Given the description of an element on the screen output the (x, y) to click on. 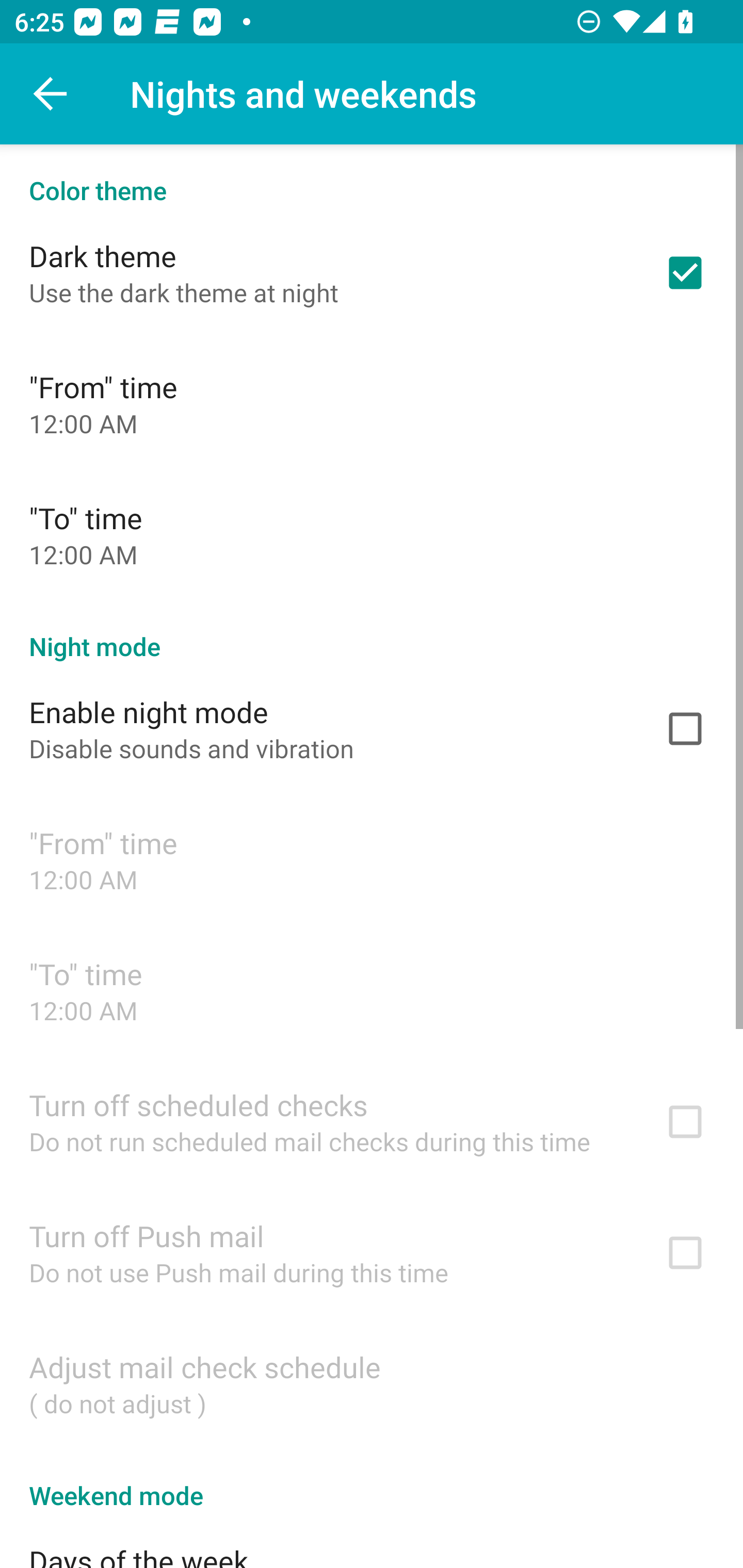
Navigate up (50, 93)
Dark theme Use the dark theme at night (371, 272)
"From" time 12:00 AM (371, 403)
"To" time 12:00 AM (371, 534)
Enable night mode Disable sounds and vibration (371, 728)
"From" time 12:00 AM (371, 859)
"To" time 12:00 AM (371, 990)
Adjust mail check schedule ( do not adjust ) (371, 1383)
